Given the description of an element on the screen output the (x, y) to click on. 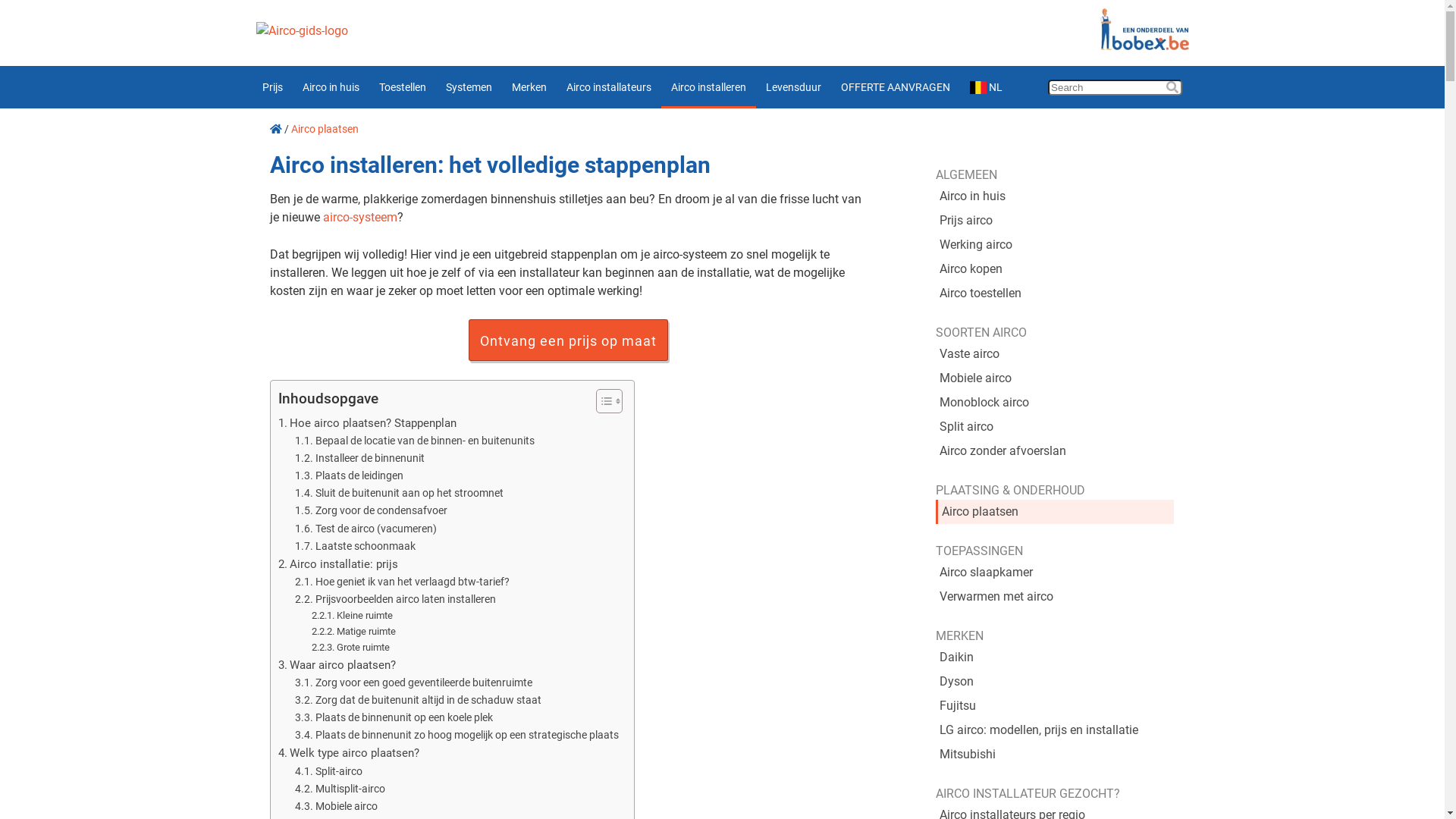
Dyson Element type: text (1054, 681)
NL Element type: text (986, 86)
Merken Element type: text (529, 86)
Plaats de binnenunit op een koele plek Element type: text (393, 717)
Sluit de buitenunit aan op het stroomnet Element type: text (398, 493)
Airco slaapkamer Element type: text (1054, 572)
Airco installatie: prijs Element type: text (337, 564)
Matige ruimte  Element type: text (354, 632)
Zorg voor een goed geventileerde buitenruimte Element type: text (413, 682)
Airco in huis Element type: text (330, 86)
Prijsvoorbeelden airco laten installeren Element type: text (394, 599)
Kleine ruimte Element type: text (351, 616)
Levensduur Element type: text (792, 86)
Airco in huis Element type: text (1054, 196)
Fujitsu Element type: text (1054, 705)
Mitsubishi Element type: text (1054, 754)
Verwarmen met airco Element type: text (1054, 596)
Waar airco plaatsen? Element type: text (336, 664)
OFFERTE AANVRAGEN Element type: text (895, 86)
Werking airco Element type: text (1054, 244)
Airco zonder afvoerslan Element type: text (1054, 451)
Daikin Element type: text (1054, 657)
Grote ruimte Element type: text (350, 647)
Toestellen Element type: text (401, 86)
Welk type airco plaatsen? Element type: text (347, 752)
Plaats de leidingen Element type: text (348, 475)
Installeer de binnenunit Element type: text (359, 458)
Airco toestellen Element type: text (1054, 293)
Airco plaatsen Element type: text (1054, 511)
Split-airco Element type: text (328, 771)
Ontvang een prijs op maat Element type: text (568, 339)
Airco installateurs Element type: text (608, 86)
Monoblock airco Element type: text (1054, 402)
Zorg voor de condensafvoer Element type: text (370, 510)
Test de airco (vacumeren) Element type: text (365, 528)
Mobiele airco Element type: text (1054, 378)
airco-systeem Element type: text (360, 217)
Bepaal de locatie van de binnen- en buitenunits  Element type: text (415, 440)
Prijs Element type: text (271, 86)
Hoe airco plaatsen? Stappenplan Element type: text (366, 423)
Airco kopen Element type: text (1054, 269)
Multisplit-airco Element type: text (339, 788)
Hoe geniet ik van het verlaagd btw-tarief? Element type: text (401, 581)
Laatste schoonmaak Element type: text (354, 546)
Zorg dat de buitenunit altijd in de schaduw staat Element type: text (417, 700)
LG airco: modellen, prijs en installatie Element type: text (1054, 730)
Vaste airco Element type: text (1054, 354)
Split airco Element type: text (1054, 426)
Prijs airco Element type: text (1054, 220)
Systemen Element type: text (468, 86)
Airco installeren Element type: text (708, 86)
Mobiele airco Element type: text (335, 806)
